Given the description of an element on the screen output the (x, y) to click on. 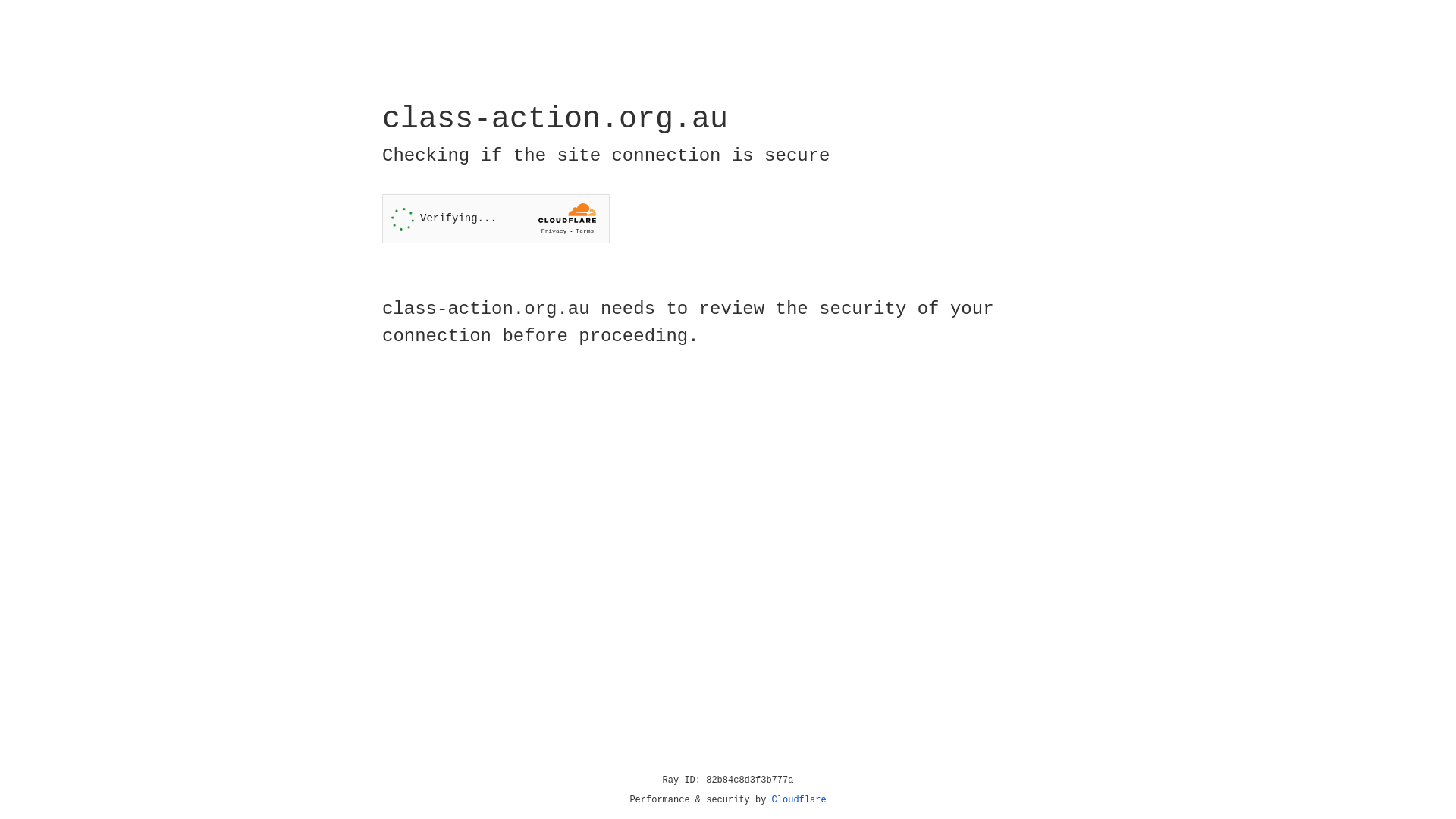
Widget containing a Cloudflare security challenge Element type: hover (495, 218)
Cloudflare Element type: text (798, 799)
